Given the description of an element on the screen output the (x, y) to click on. 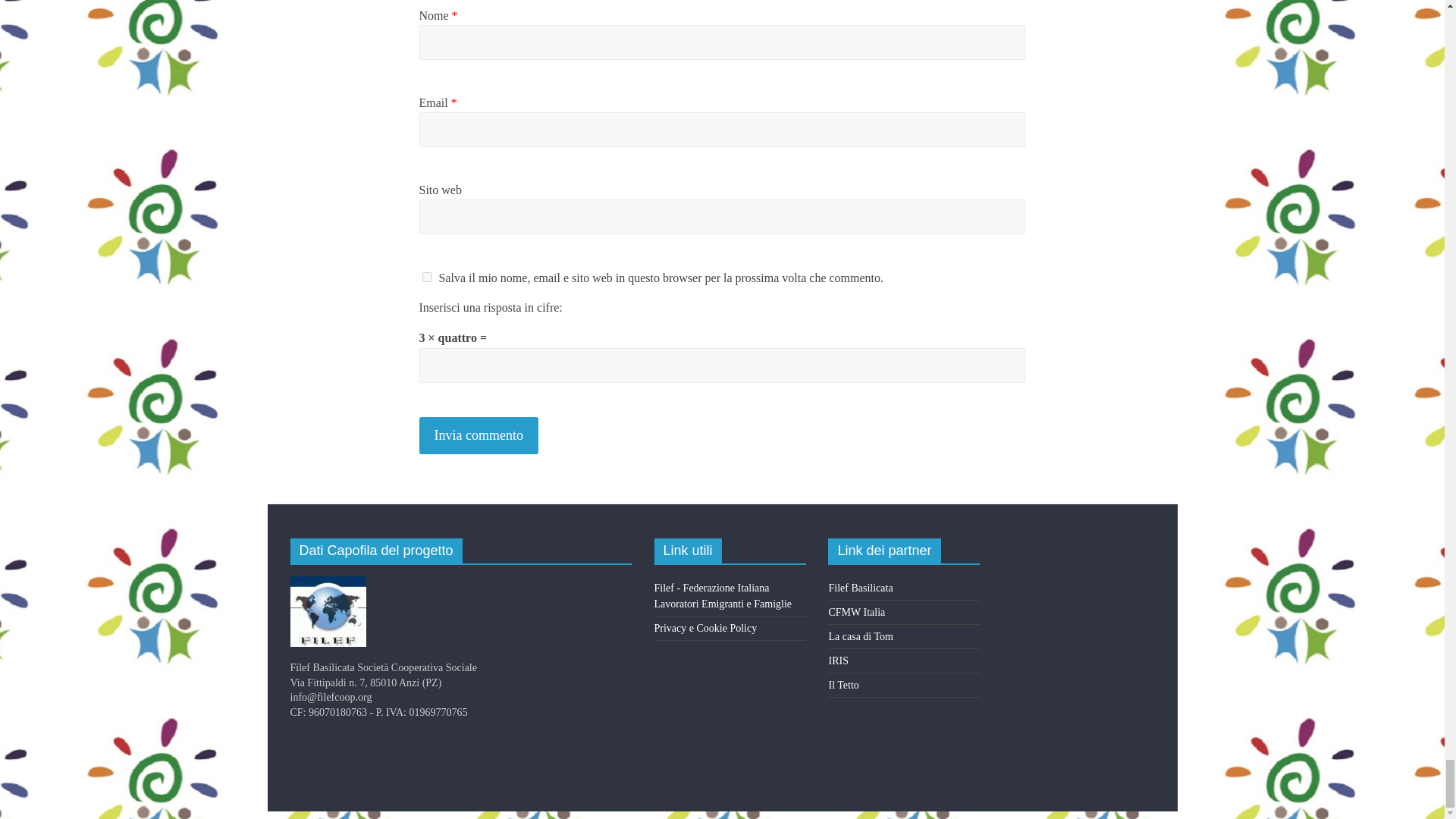
Invia commento (478, 435)
logo (327, 583)
yes (426, 276)
